Given the description of an element on the screen output the (x, y) to click on. 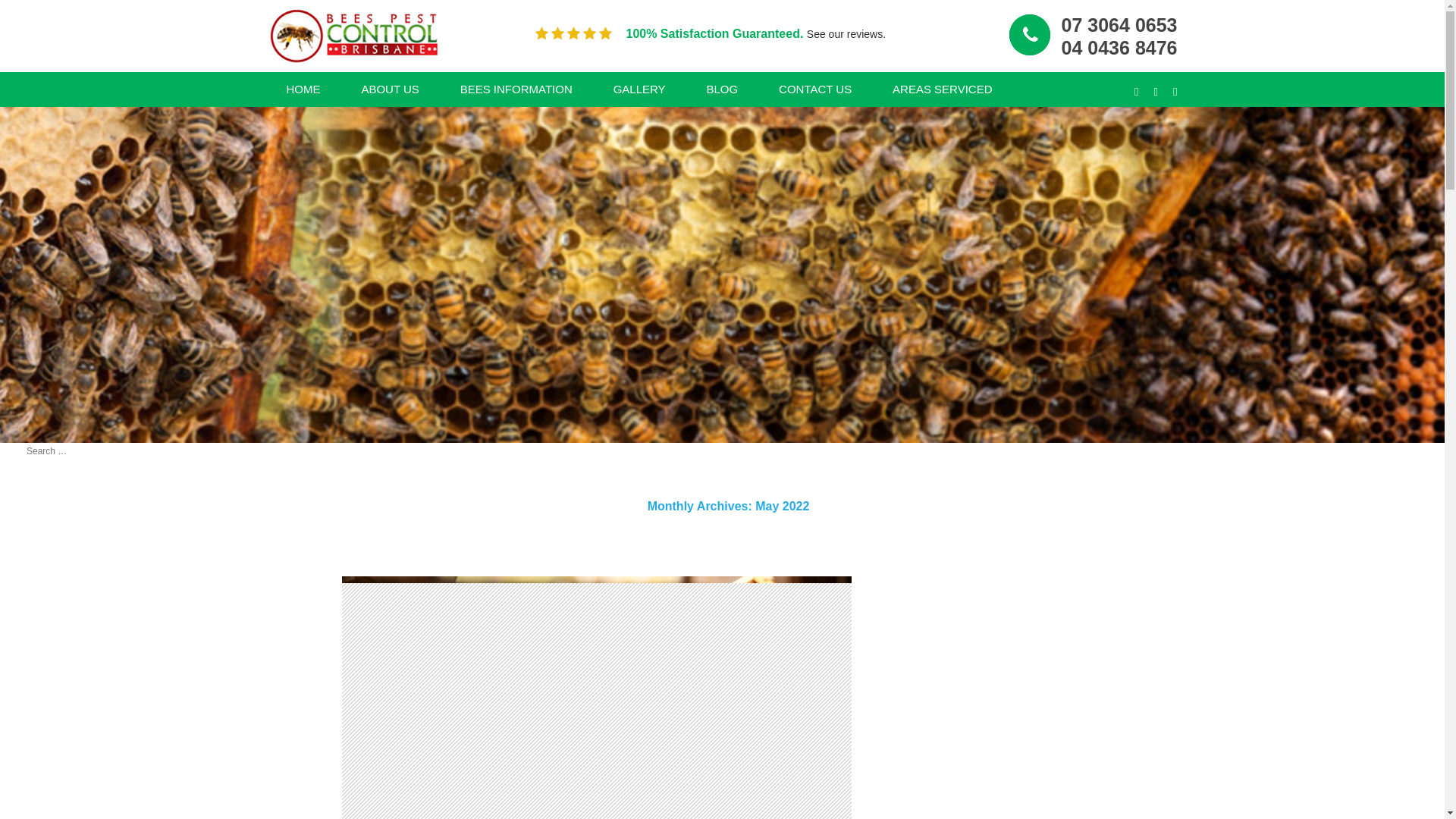
AREAS SERVICED (941, 89)
GALLERY (639, 89)
CONTACT US (815, 89)
Search (25, 8)
ABOUT US (390, 89)
How to spot a good bee hive removal company (55, 570)
BEES INFORMATION (516, 89)
HOME (302, 89)
Ballina Dentist (353, 36)
BLOG (722, 89)
Why You Should Get Indulge in Bees Control Brisbane (59, 798)
